Given the description of an element on the screen output the (x, y) to click on. 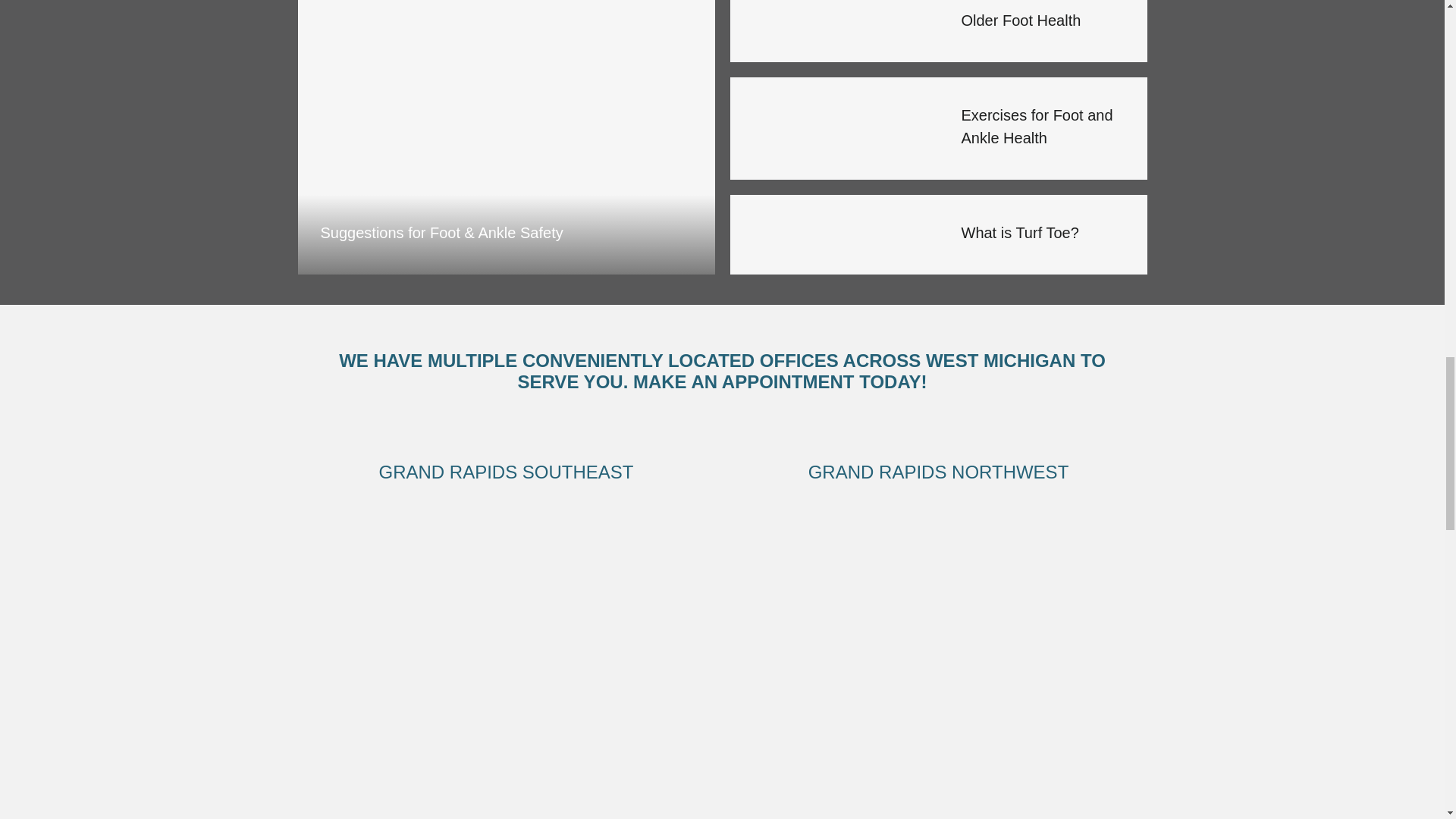
Exercises for Foot and Ankle Health (833, 127)
What is Turf Toe? (833, 234)
Older Foot Health (833, 31)
